Given the description of an element on the screen output the (x, y) to click on. 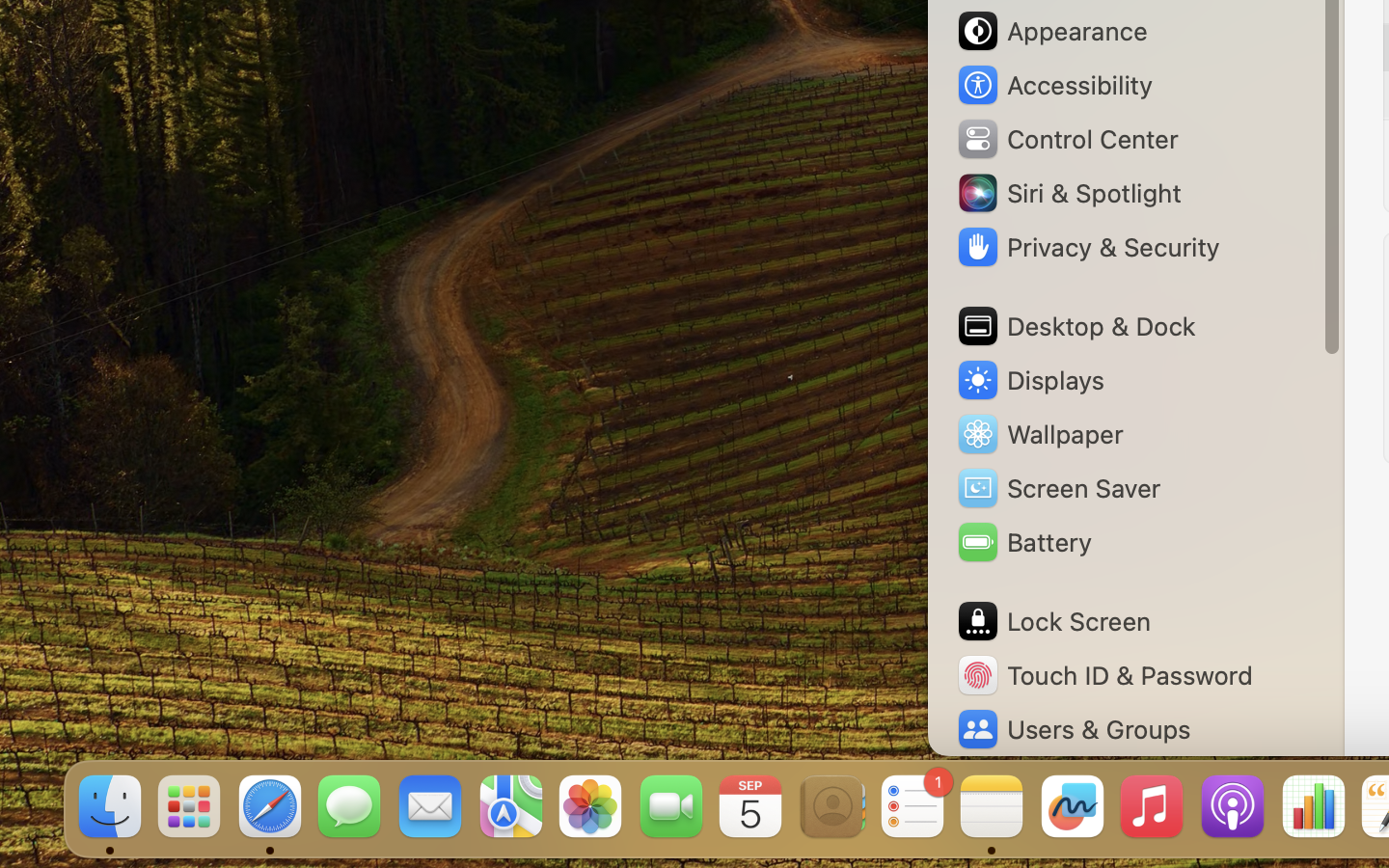
Users & Groups Element type: AXStaticText (1072, 728)
Privacy & Security Element type: AXStaticText (1086, 246)
Screen Saver Element type: AXStaticText (1057, 487)
Control Center Element type: AXStaticText (1066, 138)
Wallpaper Element type: AXStaticText (1038, 433)
